Given the description of an element on the screen output the (x, y) to click on. 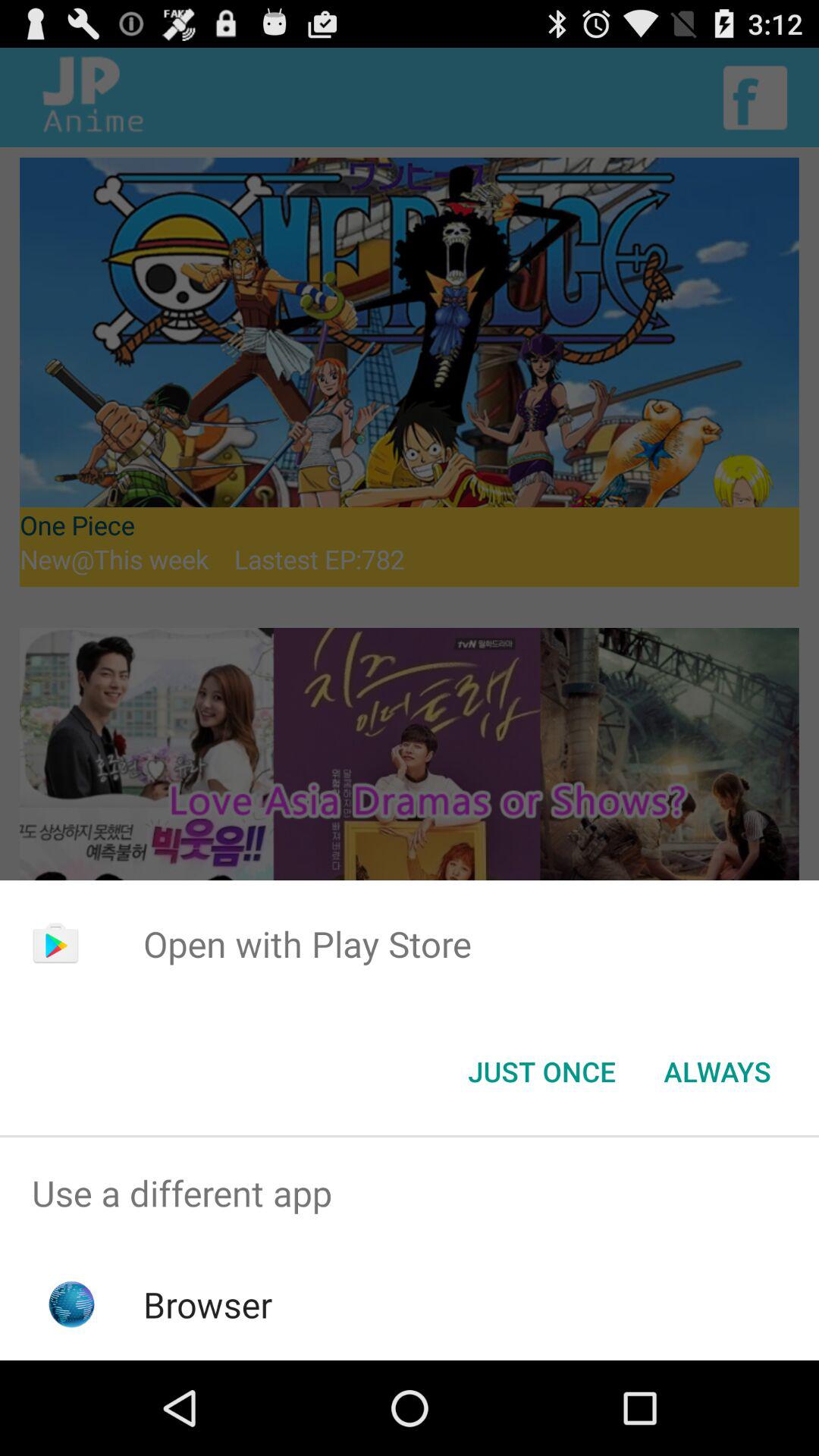
scroll to use a different icon (409, 1192)
